Given the description of an element on the screen output the (x, y) to click on. 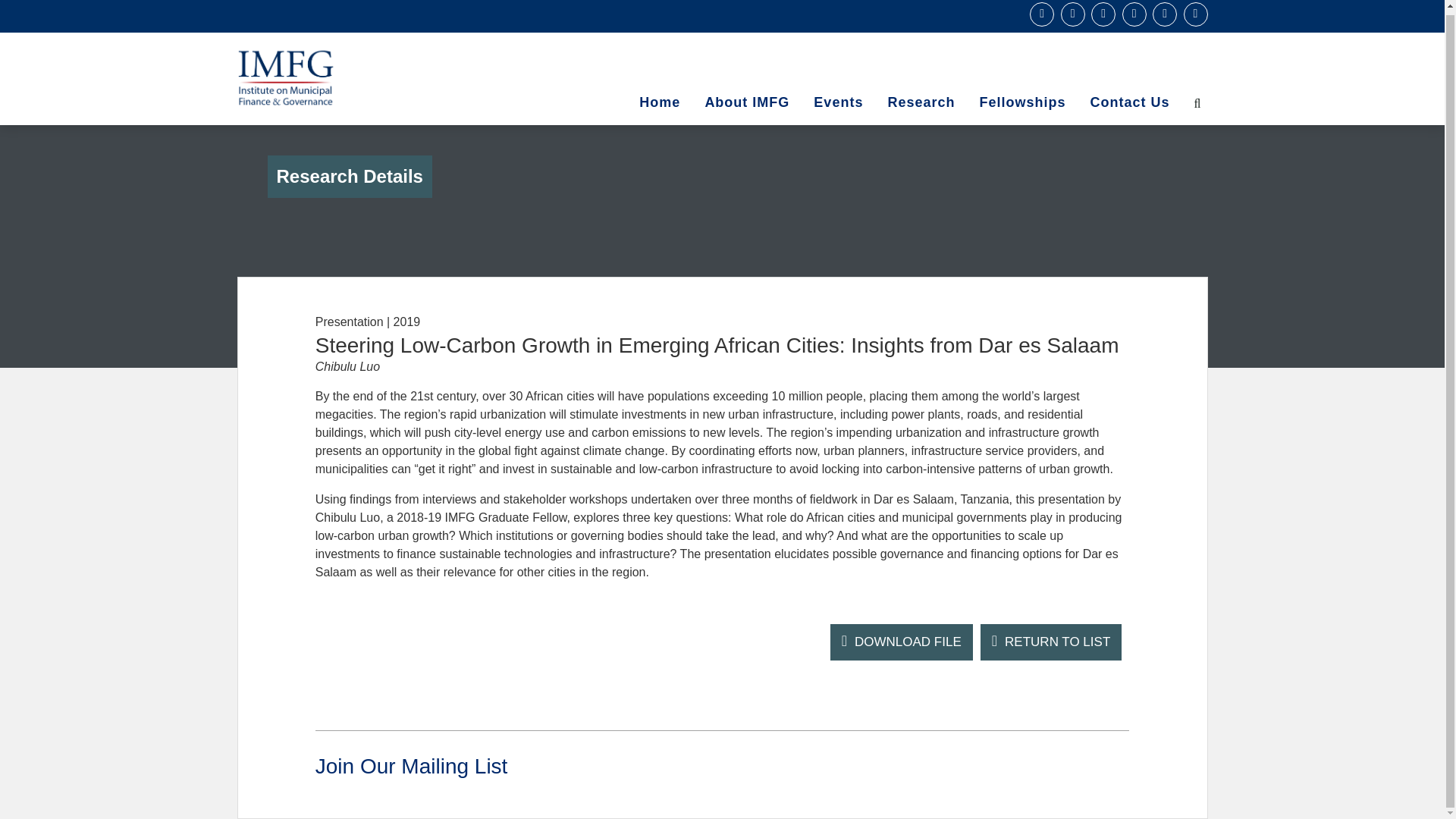
Events (838, 103)
Home (660, 103)
Research (920, 103)
About IMFG (747, 103)
Contact Us (1128, 103)
Fellowships (1021, 103)
